Given the description of an element on the screen output the (x, y) to click on. 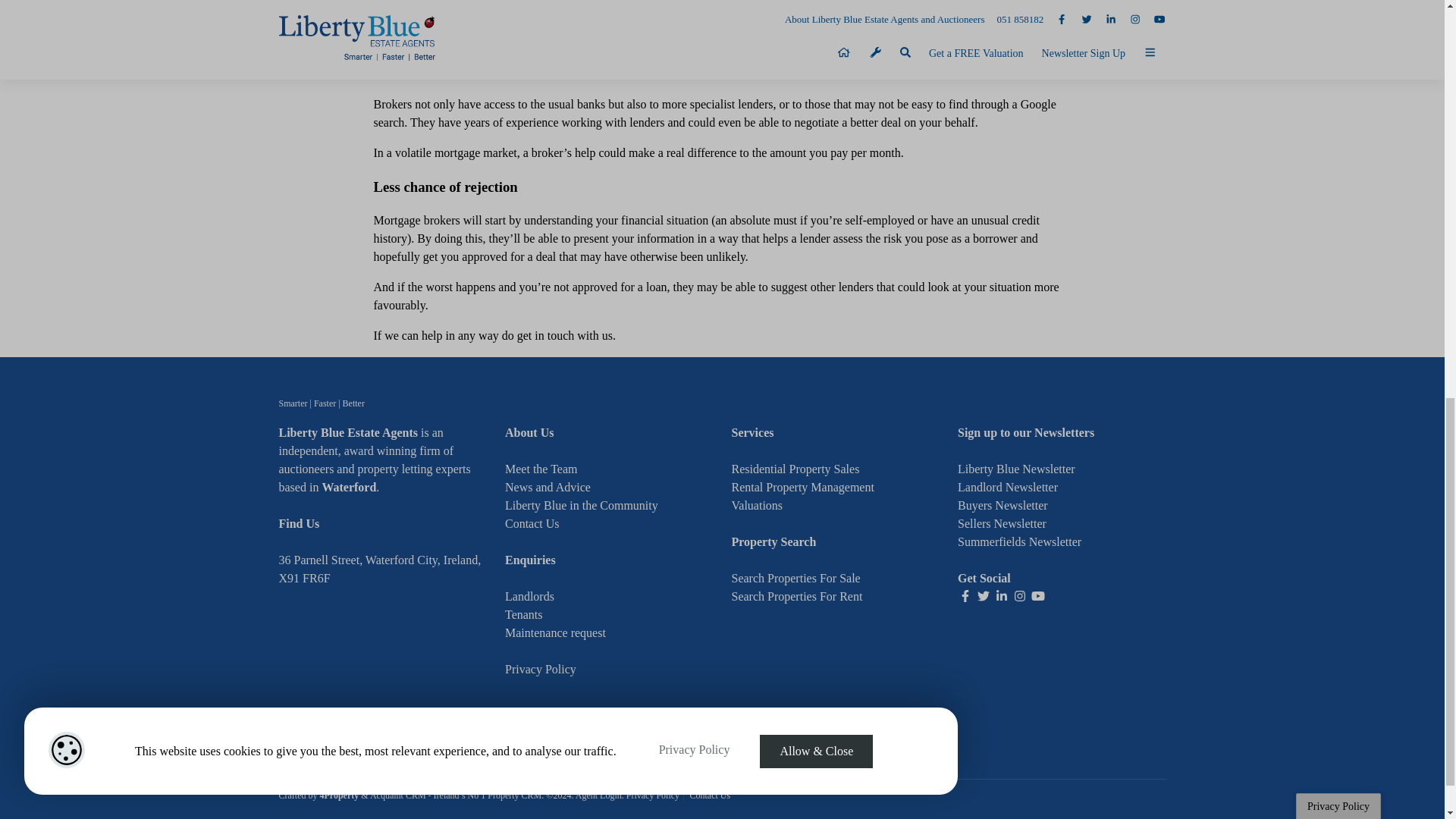
Google Maps (383, 681)
get in touch with us. (565, 335)
Liberty Blue in the Community (581, 504)
Meet the Team (540, 468)
Maintenance request (555, 632)
Landlords (529, 595)
News and Advice (548, 486)
36 Parnell Street, Waterford City, Ireland, X91 FR6F (380, 568)
Tenants (524, 614)
